Given the description of an element on the screen output the (x, y) to click on. 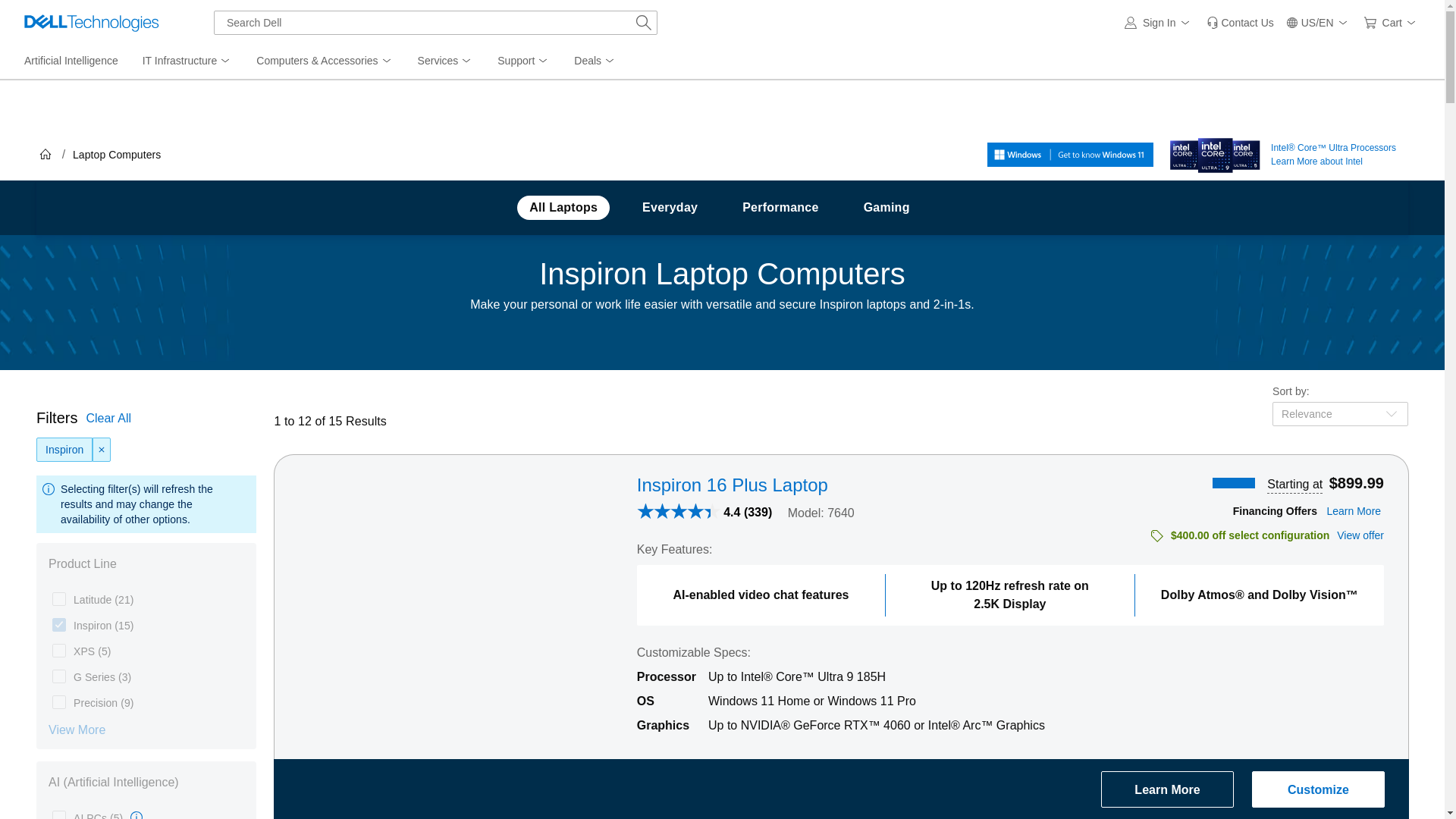
IT Infrastructure (187, 61)
Artificial Intelligence (71, 61)
Everyday (670, 207)
Cart (1392, 22)
Gaming (886, 207)
Learn More about Intel (1215, 151)
Performance (779, 207)
All Laptops (563, 207)
Windows I Get to know Windows 11 (1070, 154)
Contact Us (1239, 22)
